Given the description of an element on the screen output the (x, y) to click on. 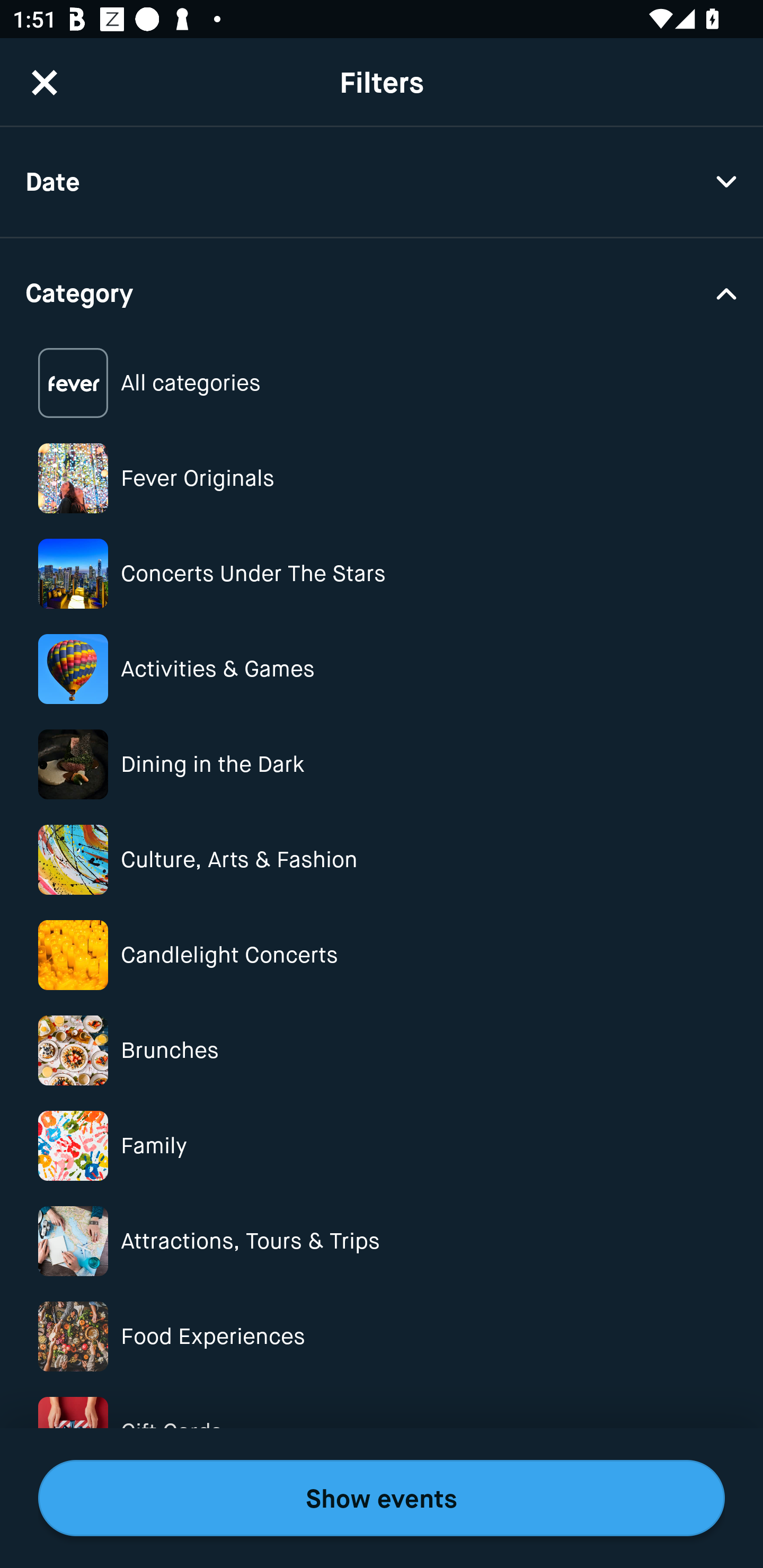
CloseButton (44, 82)
Date Drop Down Arrow (381, 182)
Category Drop Down Arrow (381, 291)
Category Image All categories (381, 382)
Category Image Fever Originals (381, 477)
Category Image Concerts Under The Stars (381, 573)
Category Image Activities & Games (381, 668)
Category Image Dining in the Dark (381, 763)
Category Image Culture, Arts & Fashion (381, 859)
Category Image Candlelight Concerts (381, 954)
Category Image Brunches (381, 1050)
Category Image Family (381, 1145)
Category Image Attractions, Tours & Trips (381, 1240)
Category Image Food Experiences (381, 1336)
Show events (381, 1497)
